Given the description of an element on the screen output the (x, y) to click on. 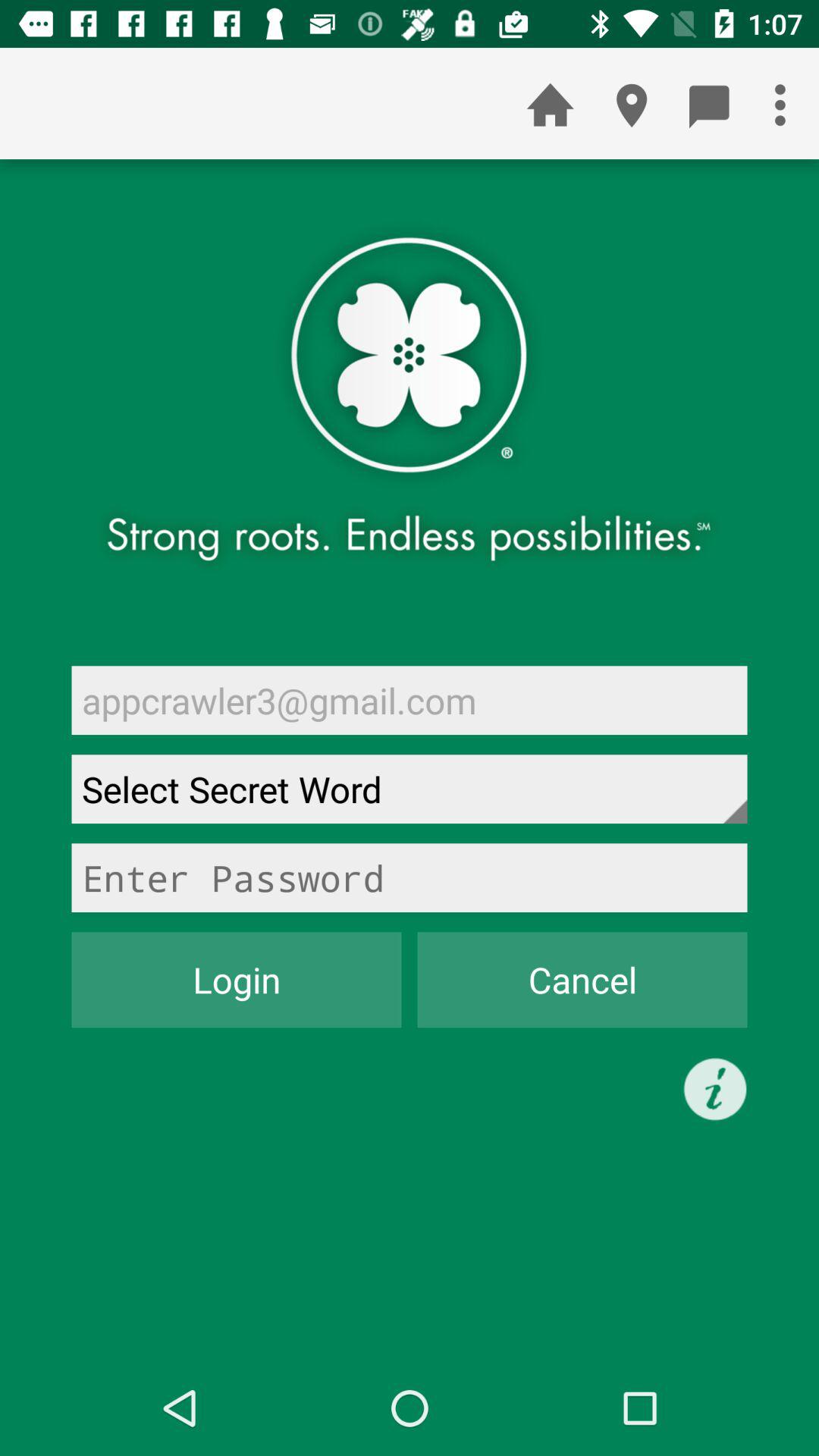
scroll until login (236, 979)
